Given the description of an element on the screen output the (x, y) to click on. 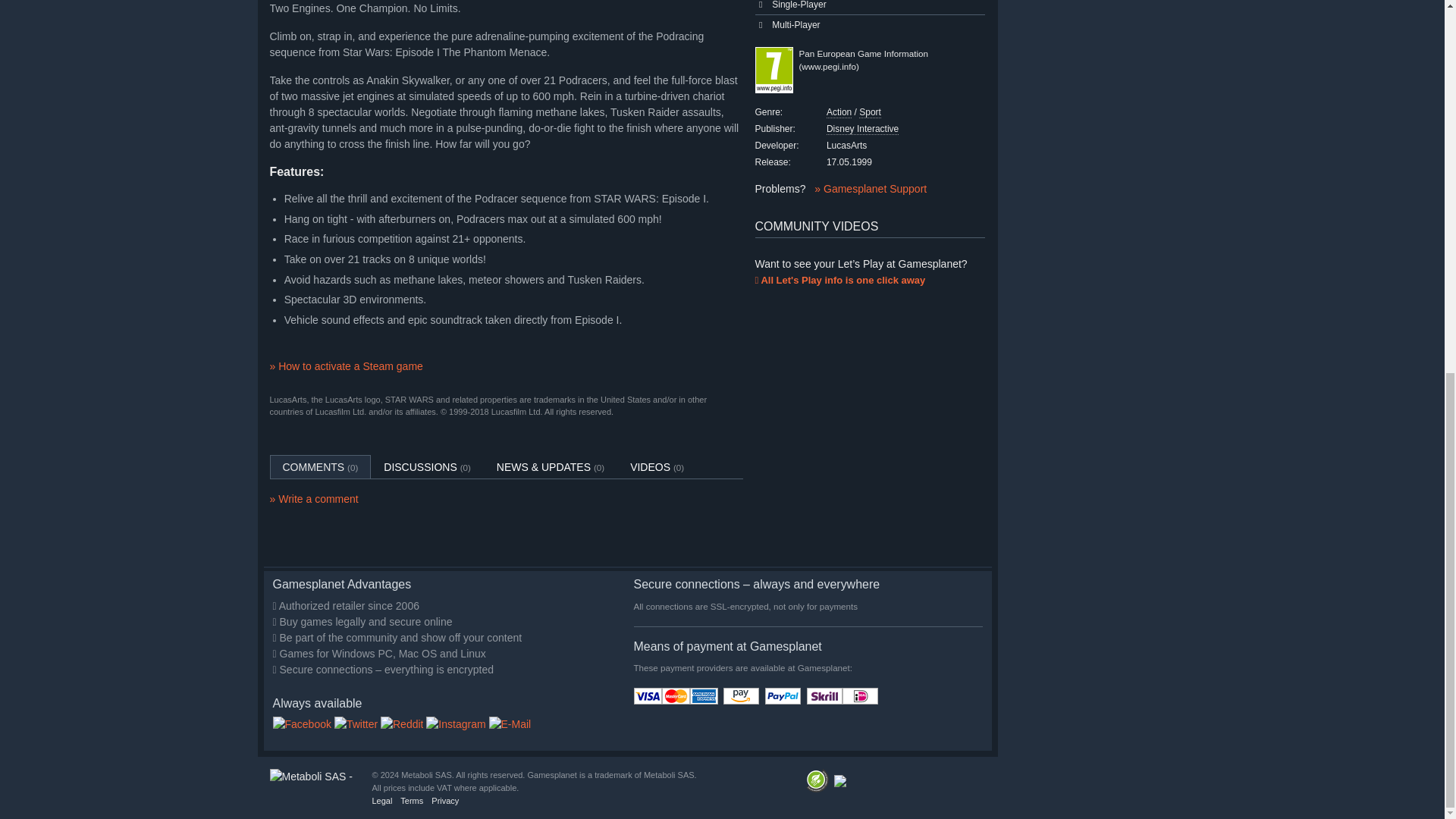
translation missing: en-GB.community.tabs.videos (649, 467)
